Given the description of an element on the screen output the (x, y) to click on. 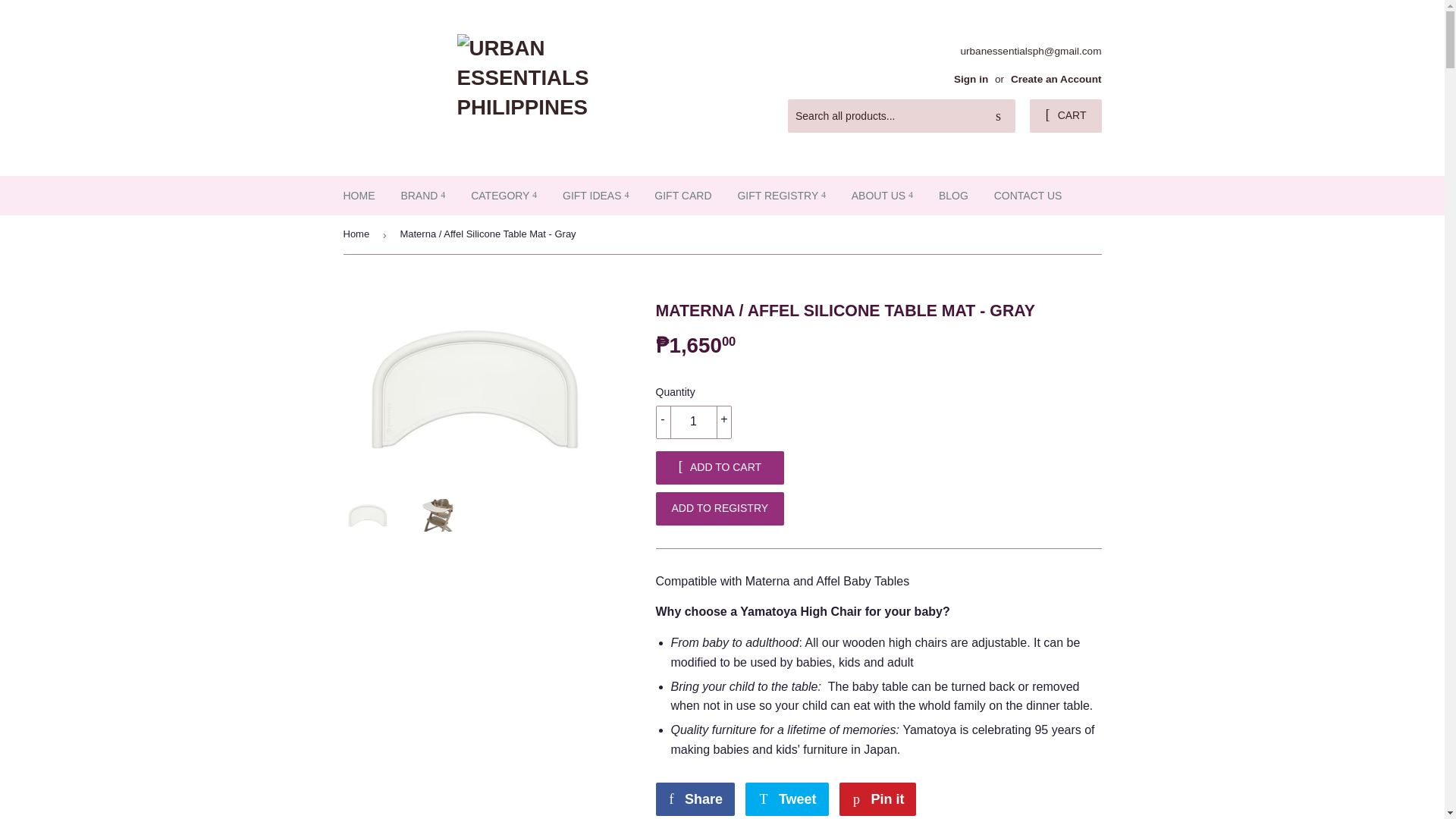
Sign in (970, 79)
Tweet on Twitter (786, 798)
Search (997, 116)
Pin on Pinterest (877, 798)
Add to Registry (719, 508)
CART (1064, 115)
Share on Facebook (694, 798)
1 (692, 421)
Create an Account (1056, 79)
